Given the description of an element on the screen output the (x, y) to click on. 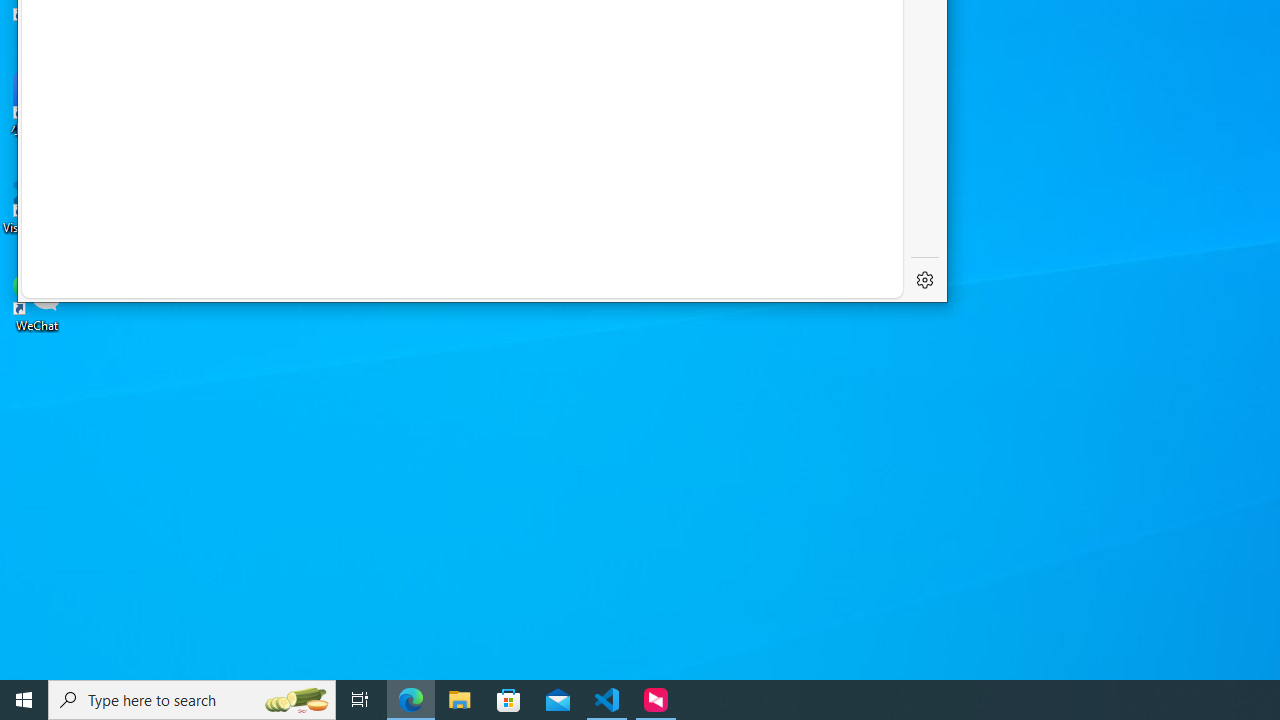
Visual Studio Code - 1 running window (607, 699)
Task View (359, 699)
Type here to search (191, 699)
Search highlights icon opens search home window (295, 699)
Microsoft Store (509, 699)
Start (24, 699)
Microsoft Edge - 1 running window (411, 699)
File Explorer (460, 699)
